Given the description of an element on the screen output the (x, y) to click on. 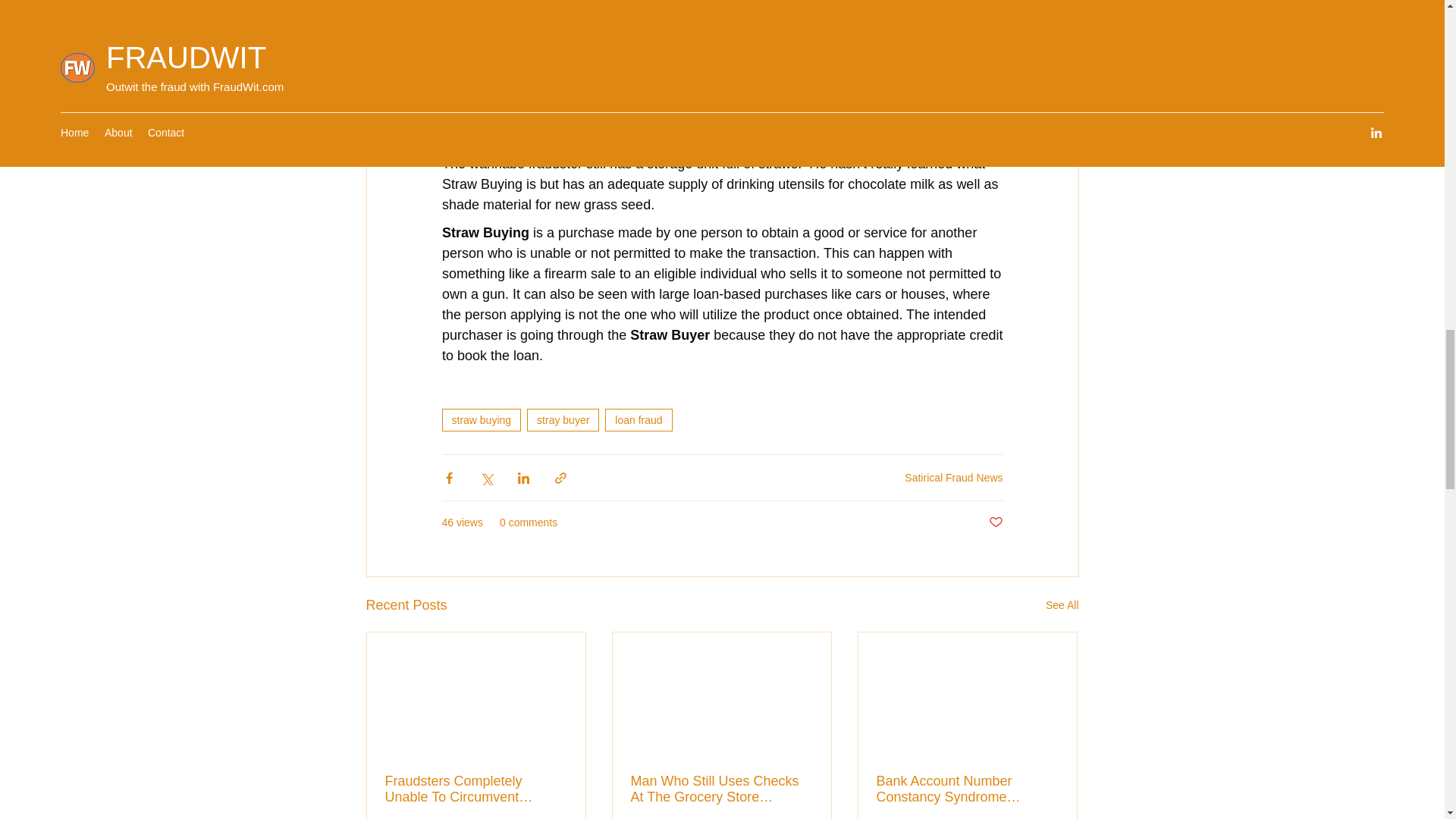
Satirical Fraud News (953, 477)
loan fraud (638, 419)
See All (1061, 605)
stray buyer (562, 419)
Post not marked as liked (995, 522)
straw buying (481, 419)
